Given the description of an element on the screen output the (x, y) to click on. 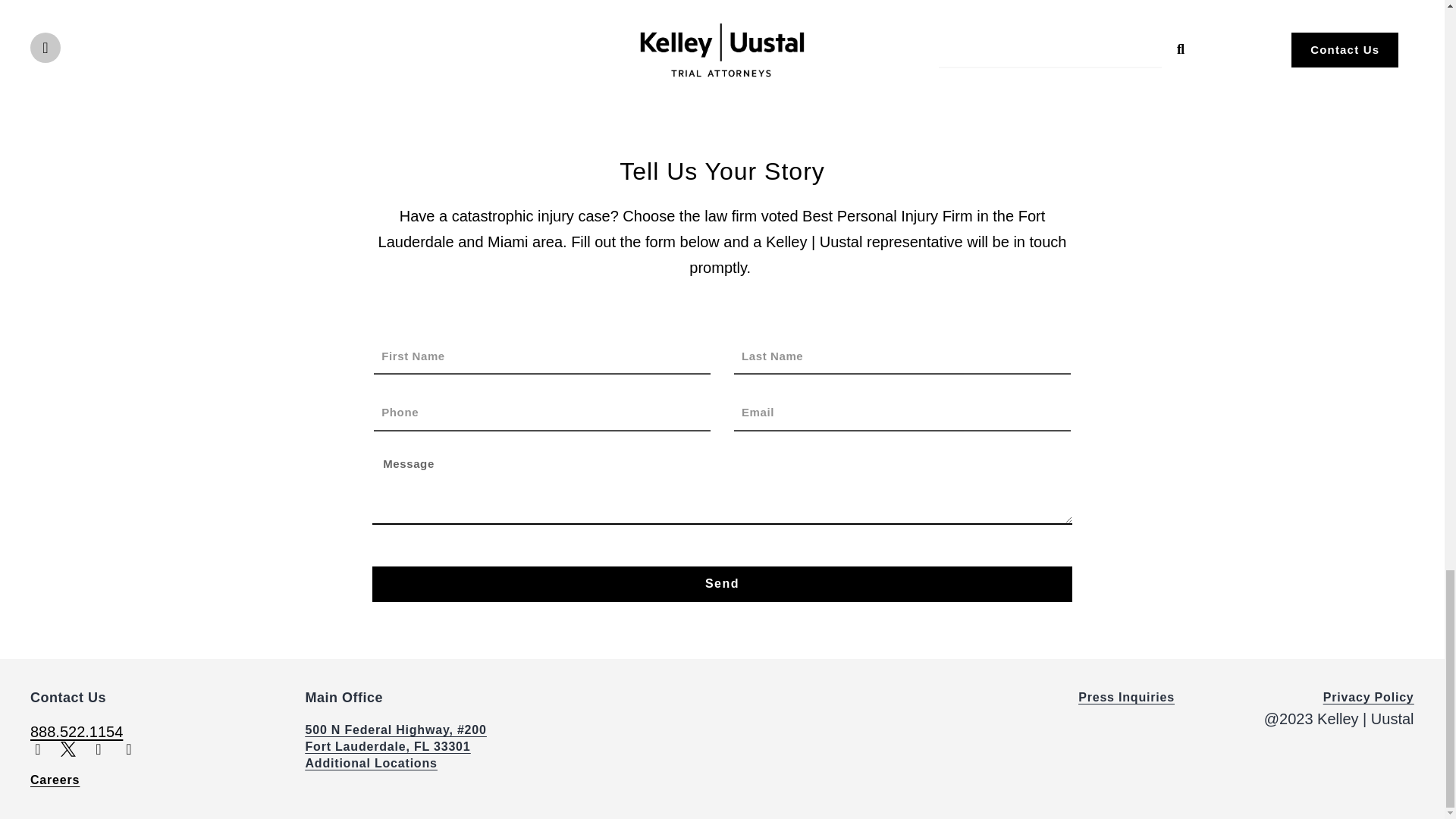
Read More (722, 73)
Careers (55, 779)
Send (721, 583)
Fort Lauderdale, FL 33301 (387, 746)
888.522.1154 (76, 731)
